Given the description of an element on the screen output the (x, y) to click on. 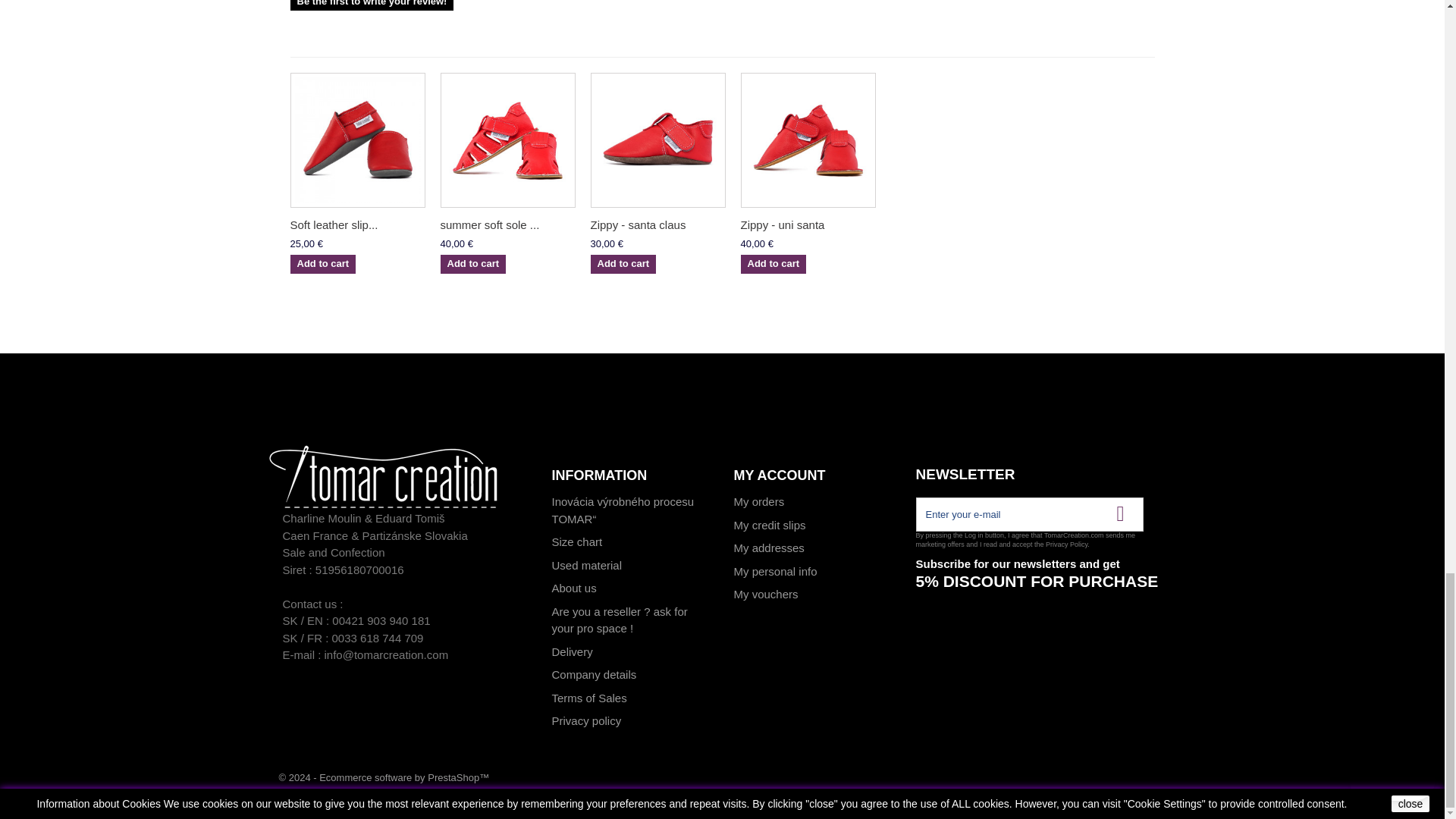
Enter your e-mail (1028, 514)
